Given the description of an element on the screen output the (x, y) to click on. 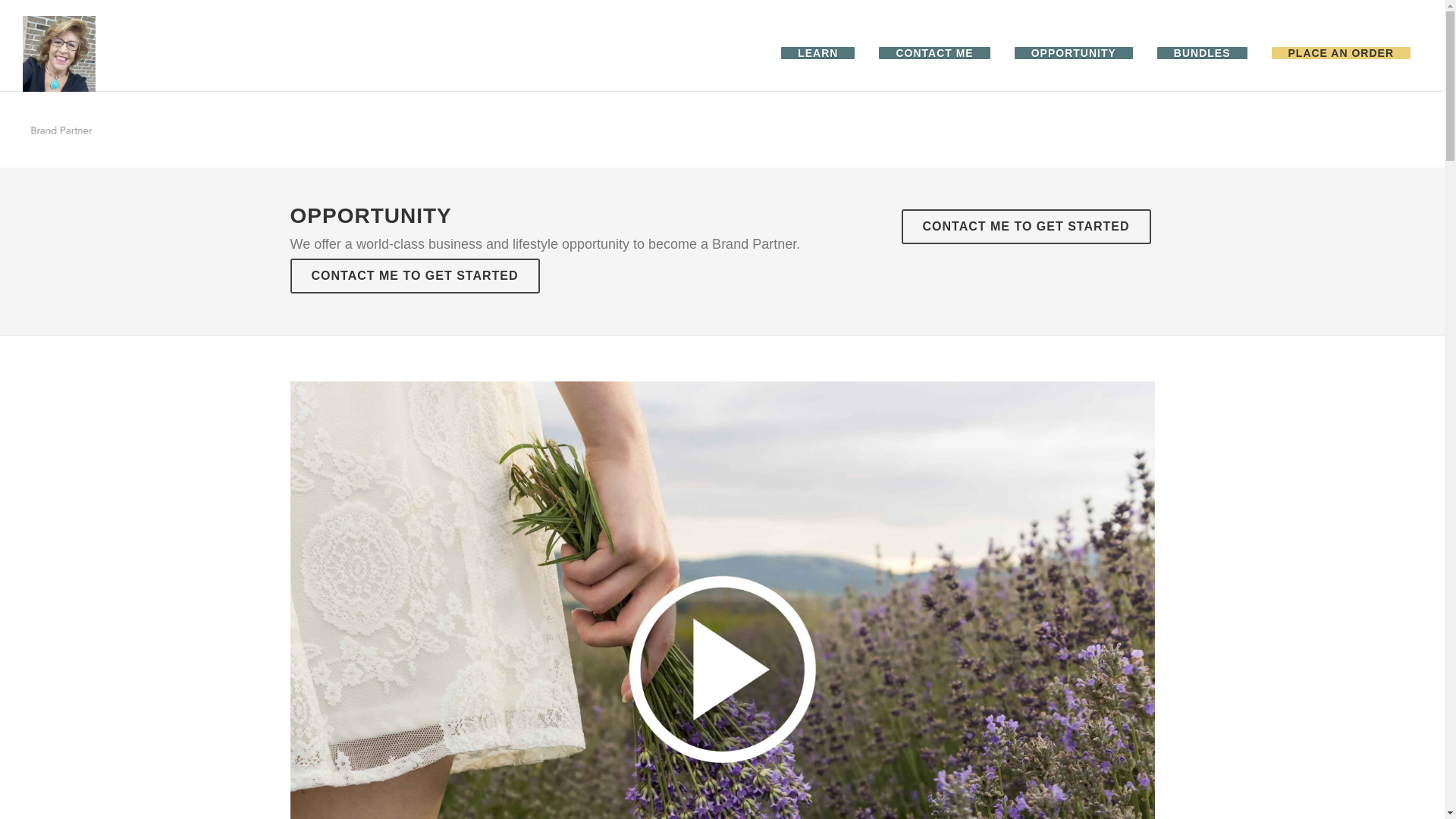
CONTACT ME TO GET STARTED (1025, 226)
BUNDLES (1202, 53)
OPPORTUNITY (1073, 53)
CONTACT ME (934, 53)
PLACE AN ORDER (1341, 53)
LEARN (818, 53)
CONTACT ME TO GET STARTED (413, 275)
